Given the description of an element on the screen output the (x, y) to click on. 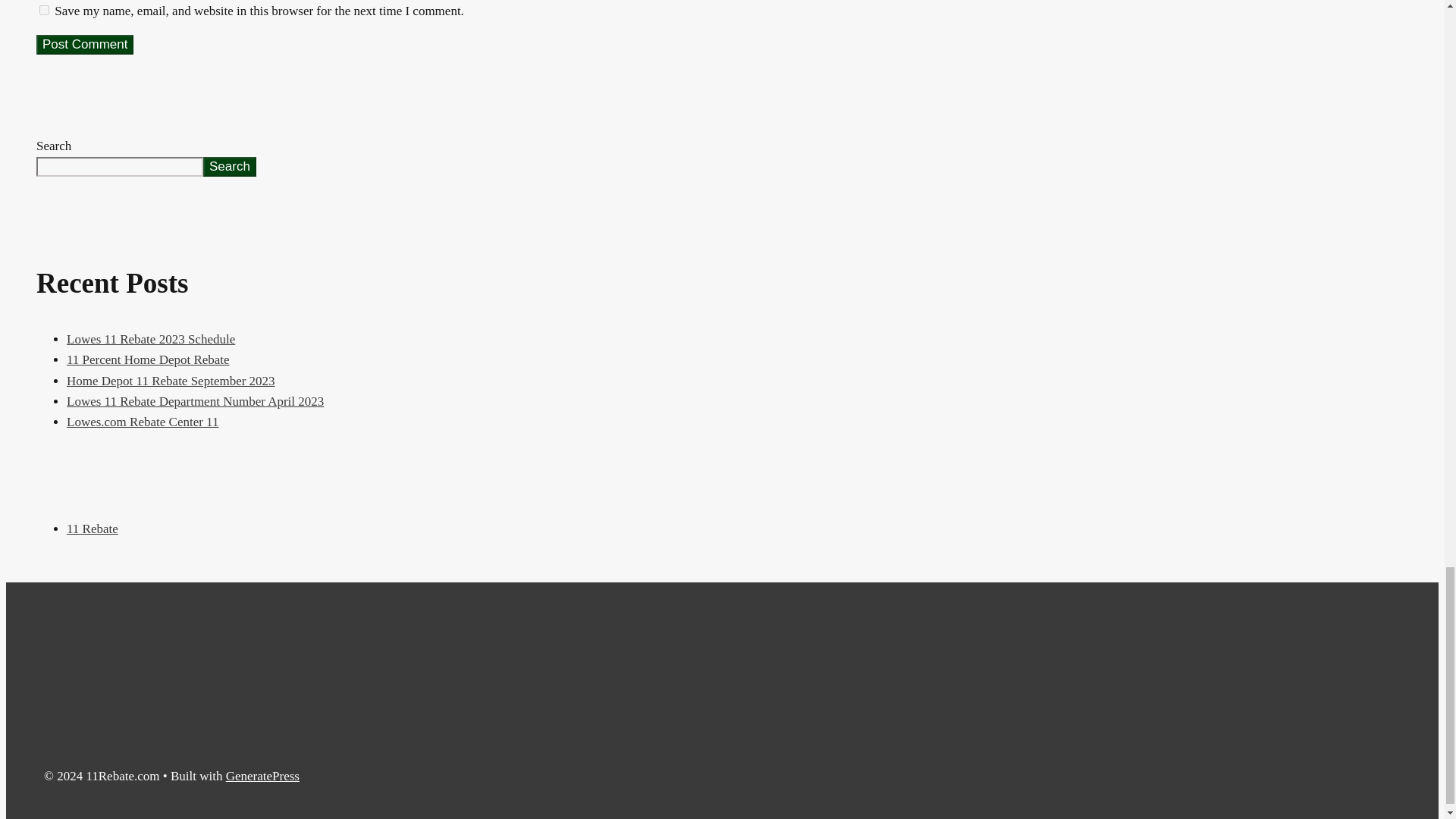
Home Depot 11 Rebate September 2023 (170, 380)
yes (44, 9)
Post Comment (84, 44)
Search (229, 166)
Lowes 11 Rebate 2023 Schedule (150, 339)
11 Rebate (91, 528)
Lowes.com Rebate Center 11 (142, 421)
Post Comment (84, 44)
Lowes 11 Rebate Department Number April 2023 (194, 400)
11 Percent Home Depot Rebate (148, 359)
GeneratePress (262, 775)
